Given the description of an element on the screen output the (x, y) to click on. 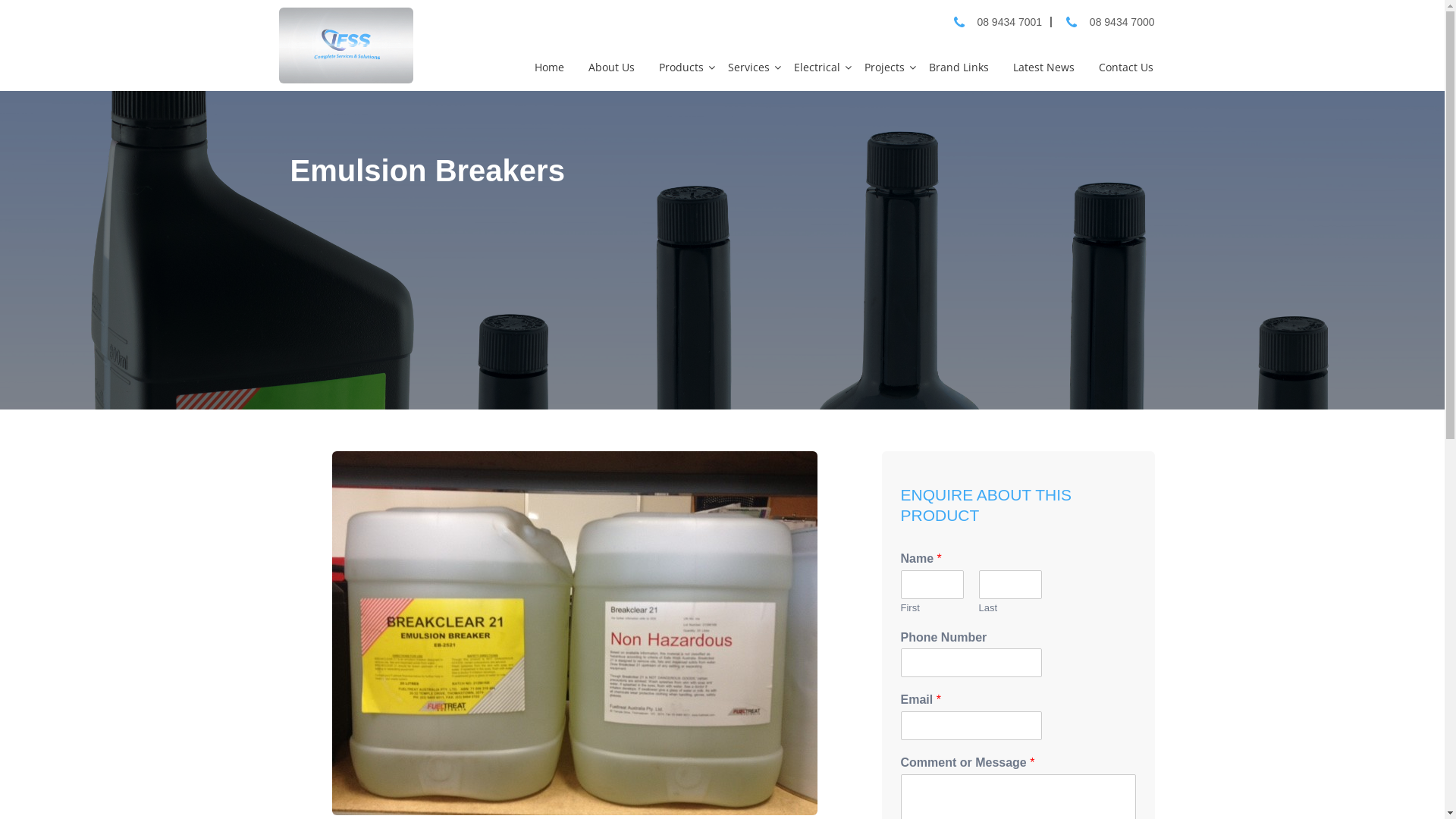
Products Element type: text (681, 67)
Integrated Fuel Services and Solutions Element type: hover (346, 45)
Brand Links Element type: text (959, 67)
Latest News Element type: text (1043, 67)
Contact Us Element type: text (1126, 67)
Home Element type: text (550, 67)
08 9434 7000 Element type: text (1121, 21)
Projects Element type: text (884, 67)
Electrical Element type: text (817, 67)
08 9434 7001 Element type: text (1008, 21)
Services Element type: text (748, 67)
About Us Element type: text (611, 67)
